Given the description of an element on the screen output the (x, y) to click on. 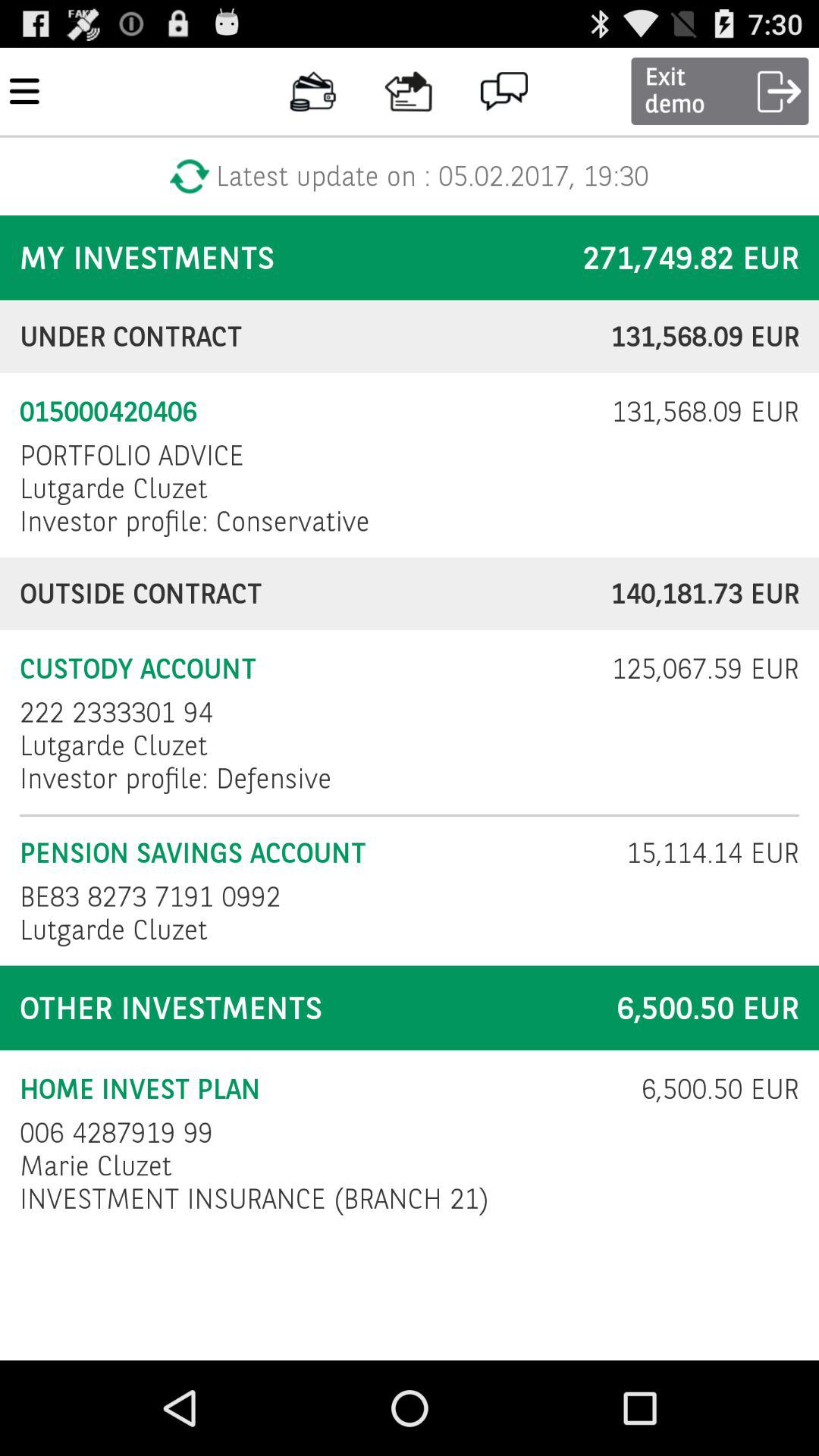
tap item below the outside contract (695, 668)
